Given the description of an element on the screen output the (x, y) to click on. 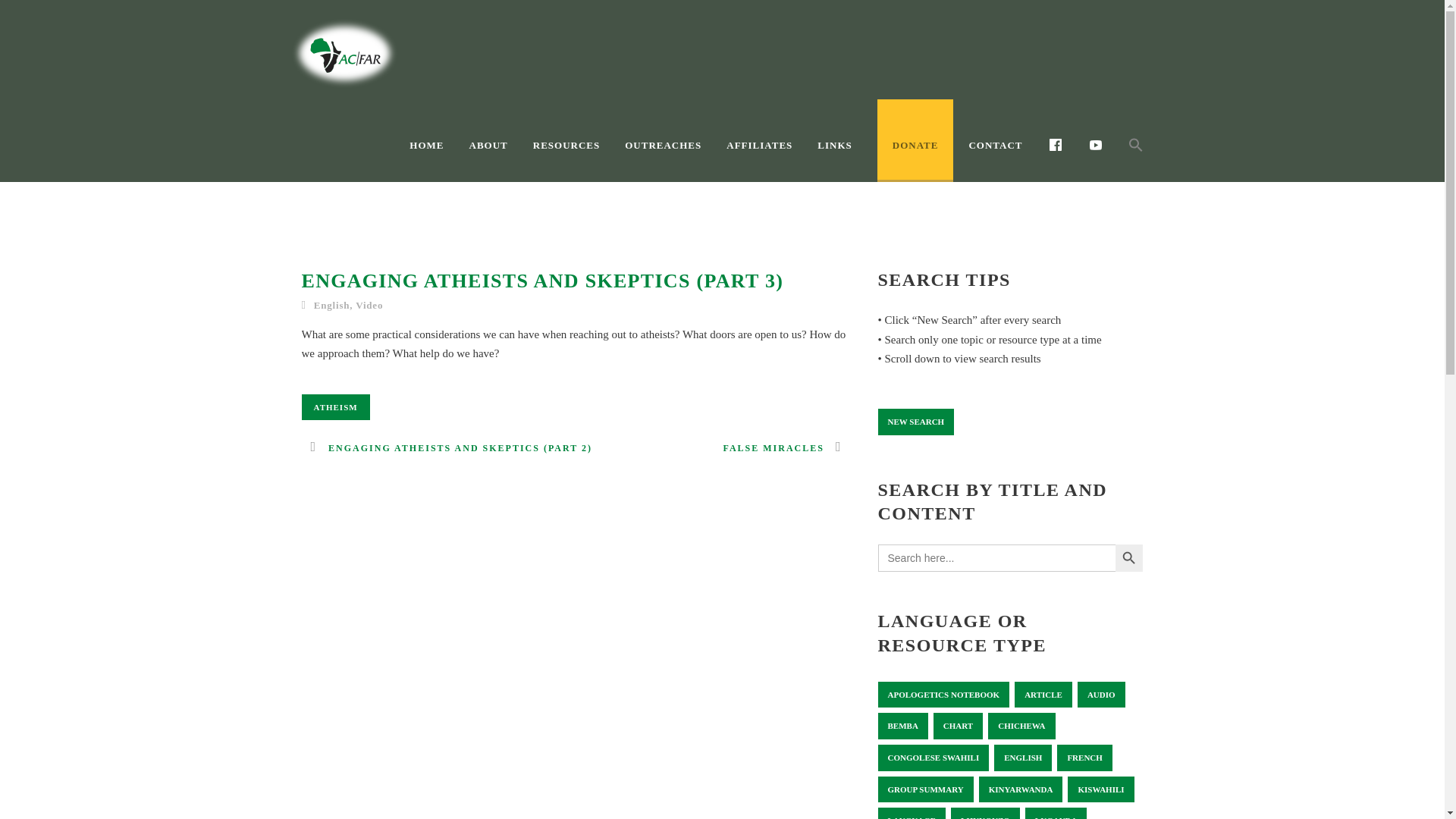
HOME (438, 158)
ABOUT (500, 158)
